Given the description of an element on the screen output the (x, y) to click on. 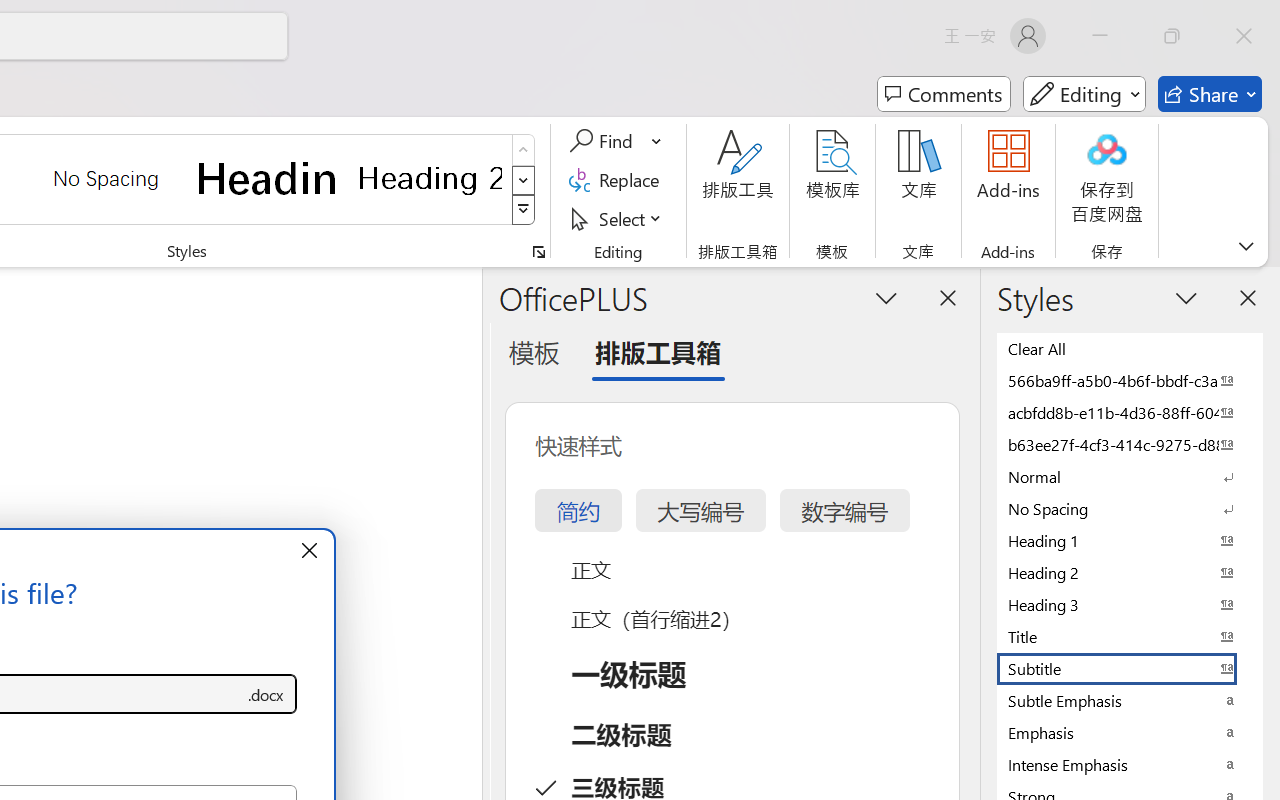
Styles... (538, 252)
Subtitle (1130, 668)
Subtle Emphasis (1130, 700)
Styles (523, 209)
